Given the description of an element on the screen output the (x, y) to click on. 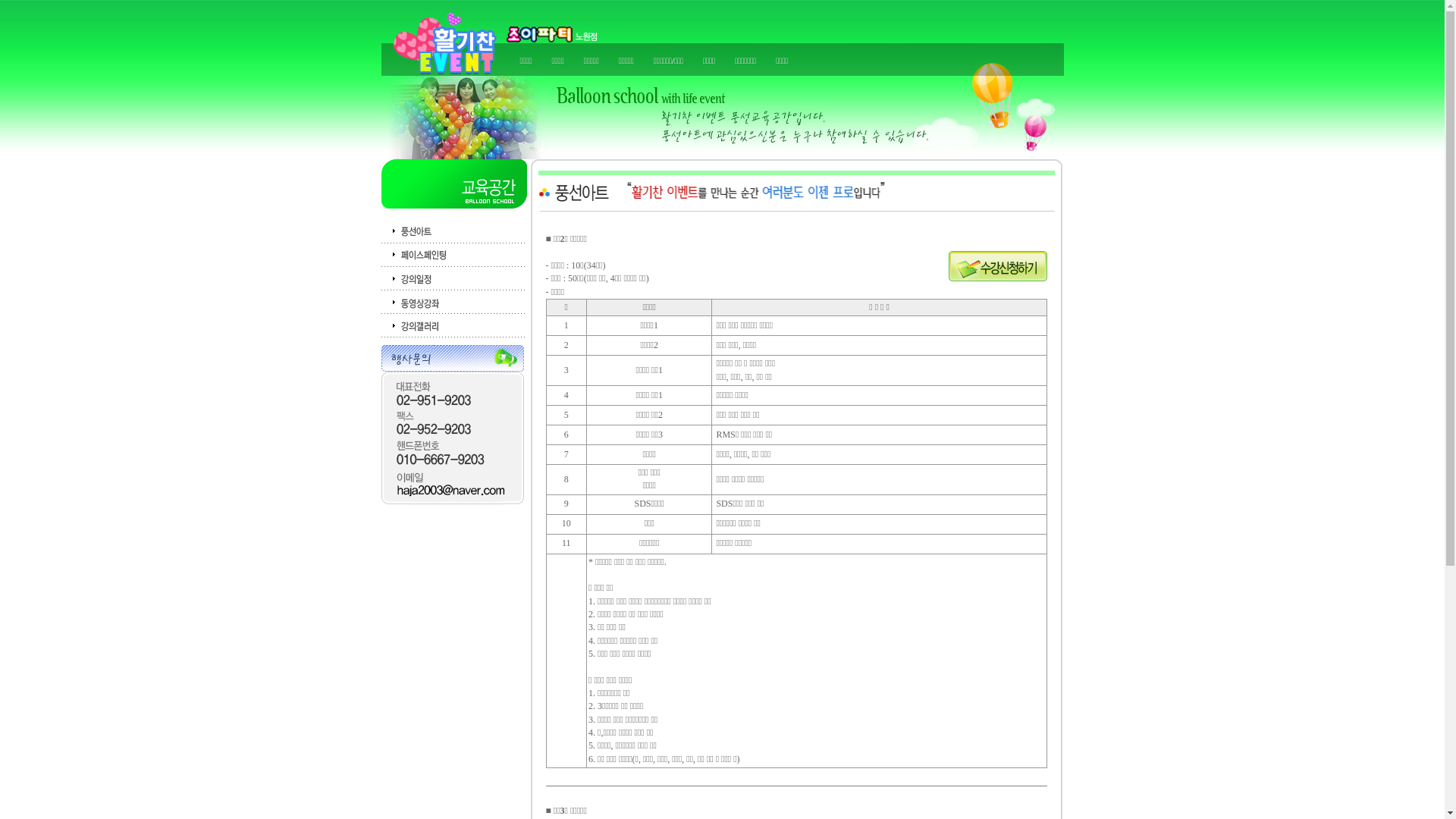
  Element type: text (444, 37)
